Given the description of an element on the screen output the (x, y) to click on. 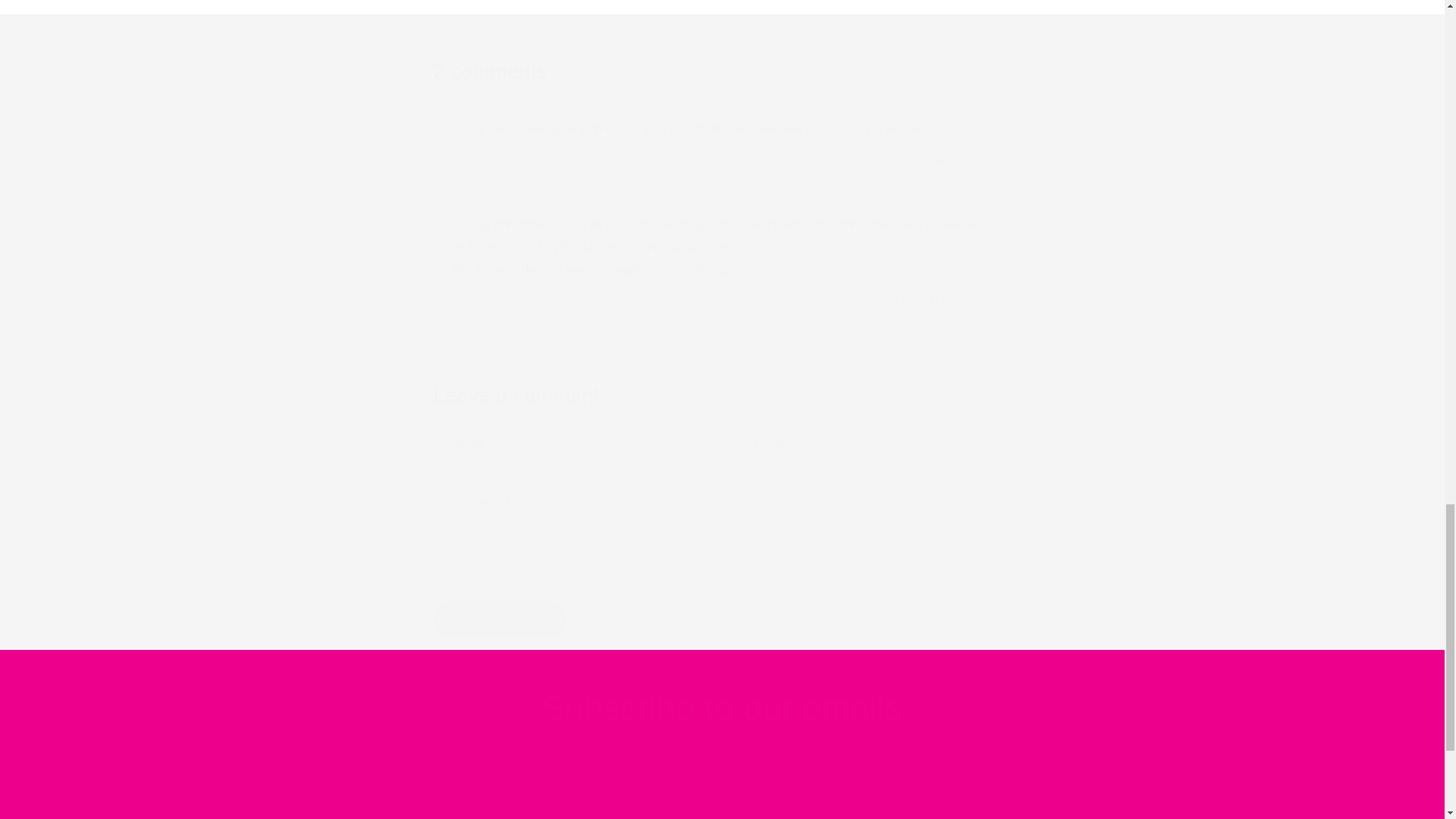
Post comment (499, 618)
Email (722, 801)
Subscribe to our emails (722, 708)
